Given the description of an element on the screen output the (x, y) to click on. 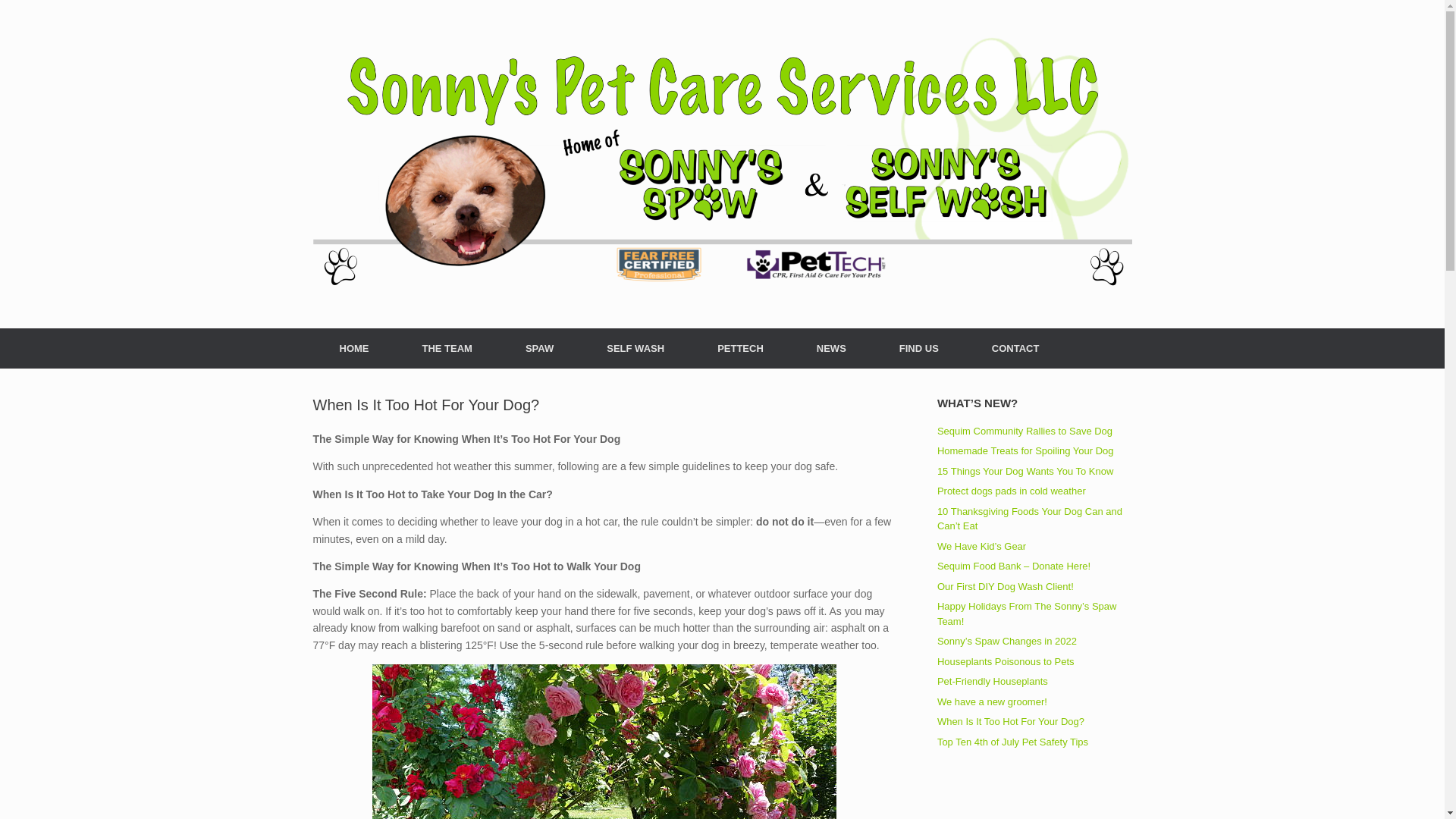
SELF WASH (634, 348)
Houseplants Poisonous to Pets (1005, 660)
PETTECH (740, 348)
SPAW (539, 348)
Pet-Friendly Houseplants (992, 681)
15 Things Your Dog Wants You To Know (1025, 471)
Our First DIY Dog Wash Client! (1005, 586)
FIND US (918, 348)
Top Ten 4th of July Pet Safety Tips (1012, 740)
We have a new groomer! (991, 701)
